Given the description of an element on the screen output the (x, y) to click on. 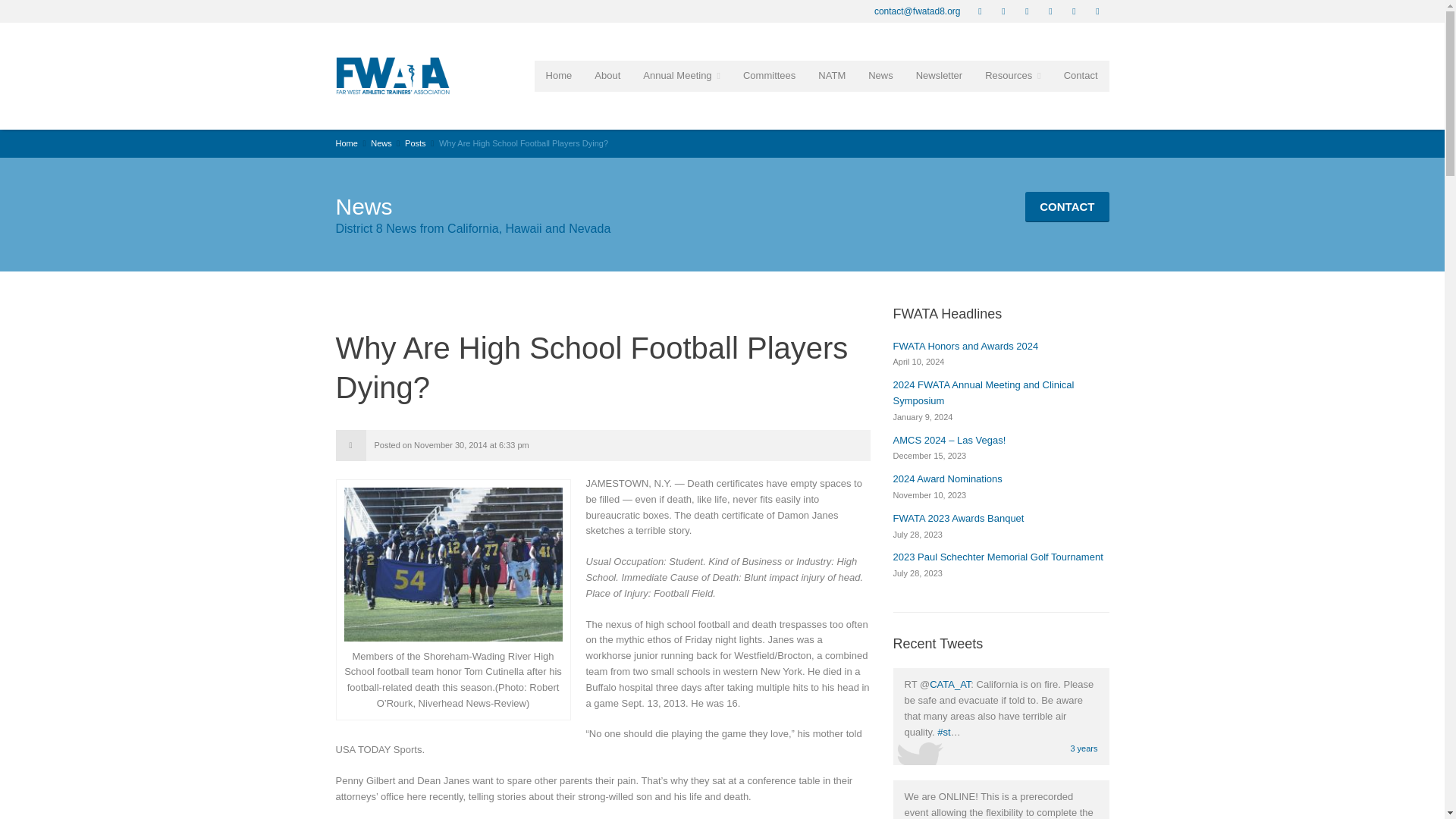
Resources (1013, 75)
FWATA Honors and Awards 2024 (966, 346)
NATM (831, 75)
Newsletter (939, 75)
Committees (769, 75)
Posts (415, 143)
About (607, 75)
CONTACT (1066, 206)
Home (345, 143)
Contact (1080, 75)
Home (558, 75)
Annual Meeting (681, 75)
News (381, 143)
2024 FWATA Annual Meeting and Clinical Symposium (983, 392)
News (880, 75)
